Given the description of an element on the screen output the (x, y) to click on. 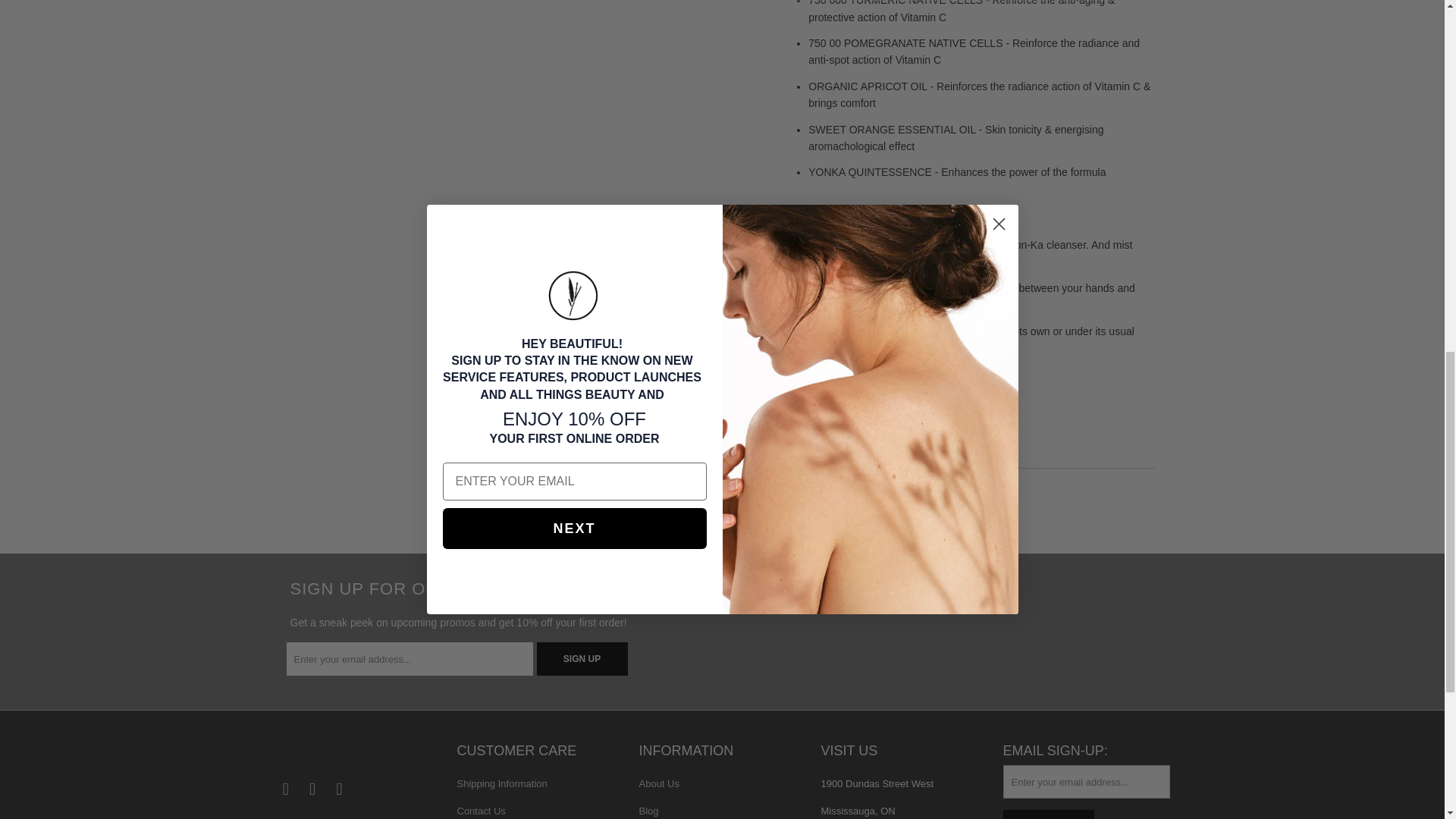
Sign Up (1048, 814)
Village Wellness Spa on Instagram (312, 789)
Sign Up (582, 658)
Email this to a friend (914, 499)
Village Wellness Spa on Facebook (286, 789)
Share this on Facebook (834, 499)
Email Village Wellness Spa (339, 789)
Share this on Pinterest (875, 499)
Share this on Twitter (793, 499)
